Given the description of an element on the screen output the (x, y) to click on. 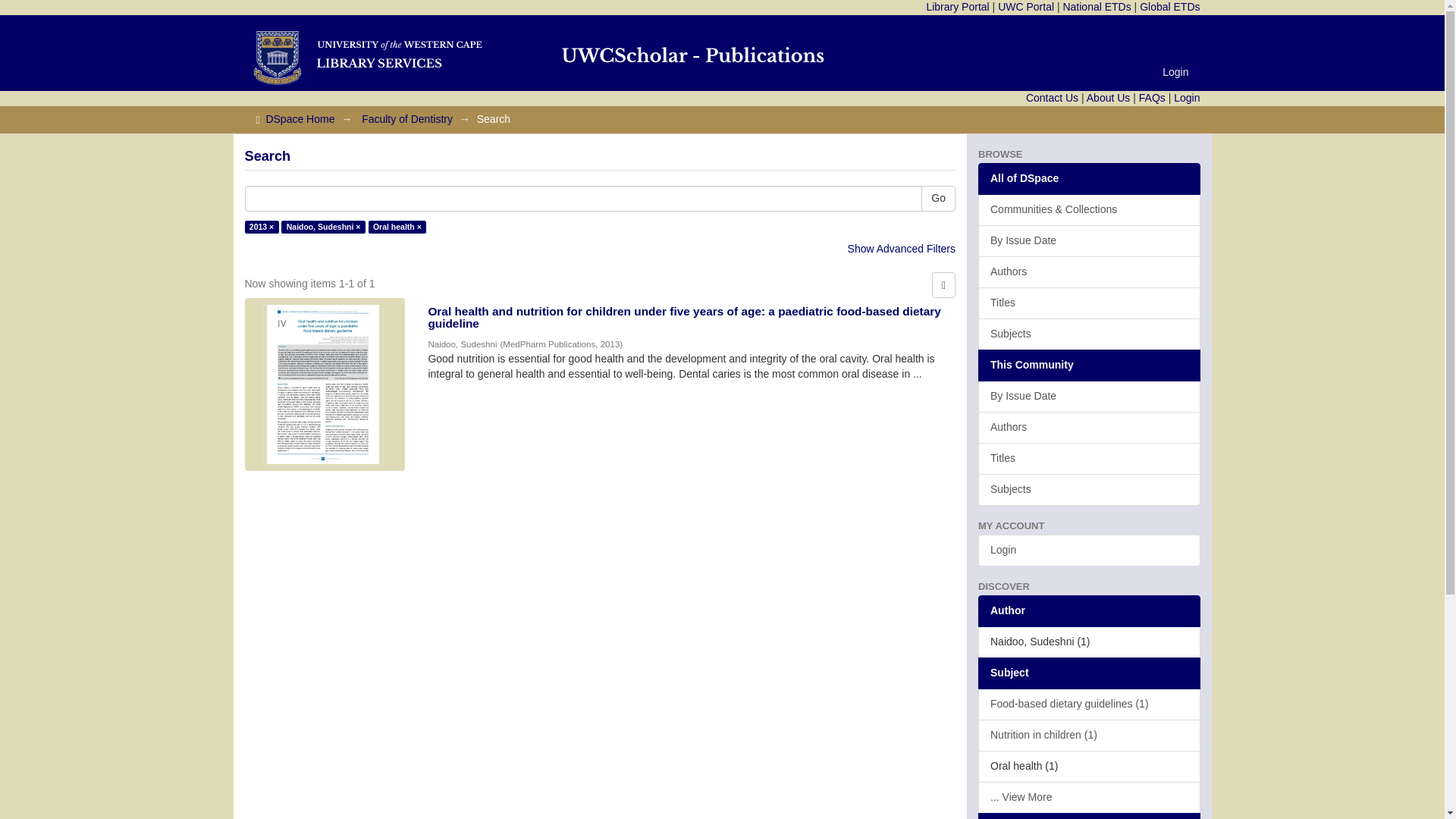
Library Portal (957, 6)
DSpace Home (299, 119)
Global ETDs (1169, 6)
Faculty of Dentistry (406, 119)
Show Advanced Filters (901, 248)
UWC Portal (1025, 6)
National ETDs (1096, 6)
Contact Us (1052, 97)
Login (1186, 97)
Login (1175, 71)
